Given the description of an element on the screen output the (x, y) to click on. 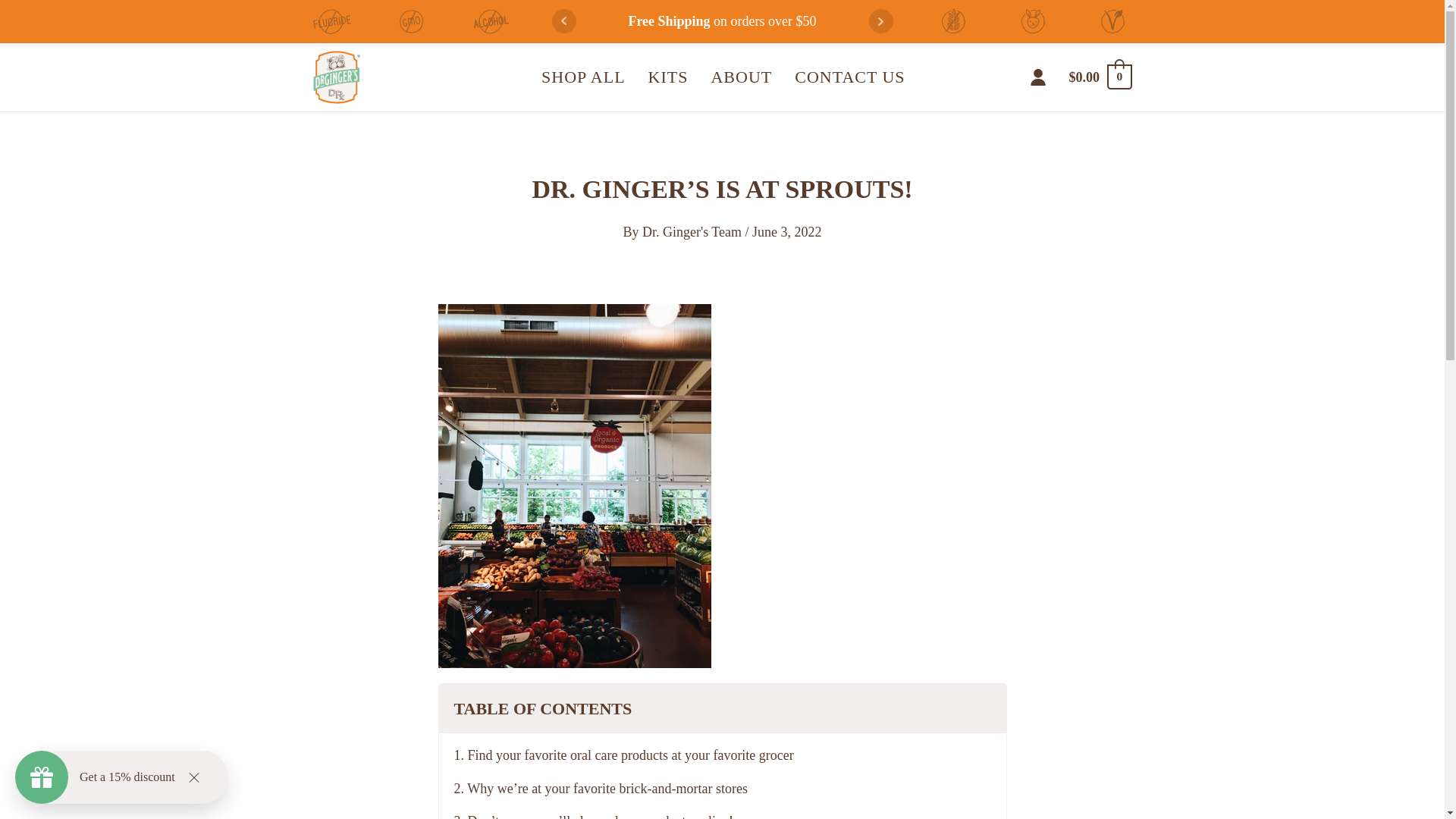
CONTACT US (849, 77)
KITS (668, 77)
Prev (563, 21)
Next (881, 21)
ABOUT (740, 77)
SHOP ALL (582, 77)
